Given the description of an element on the screen output the (x, y) to click on. 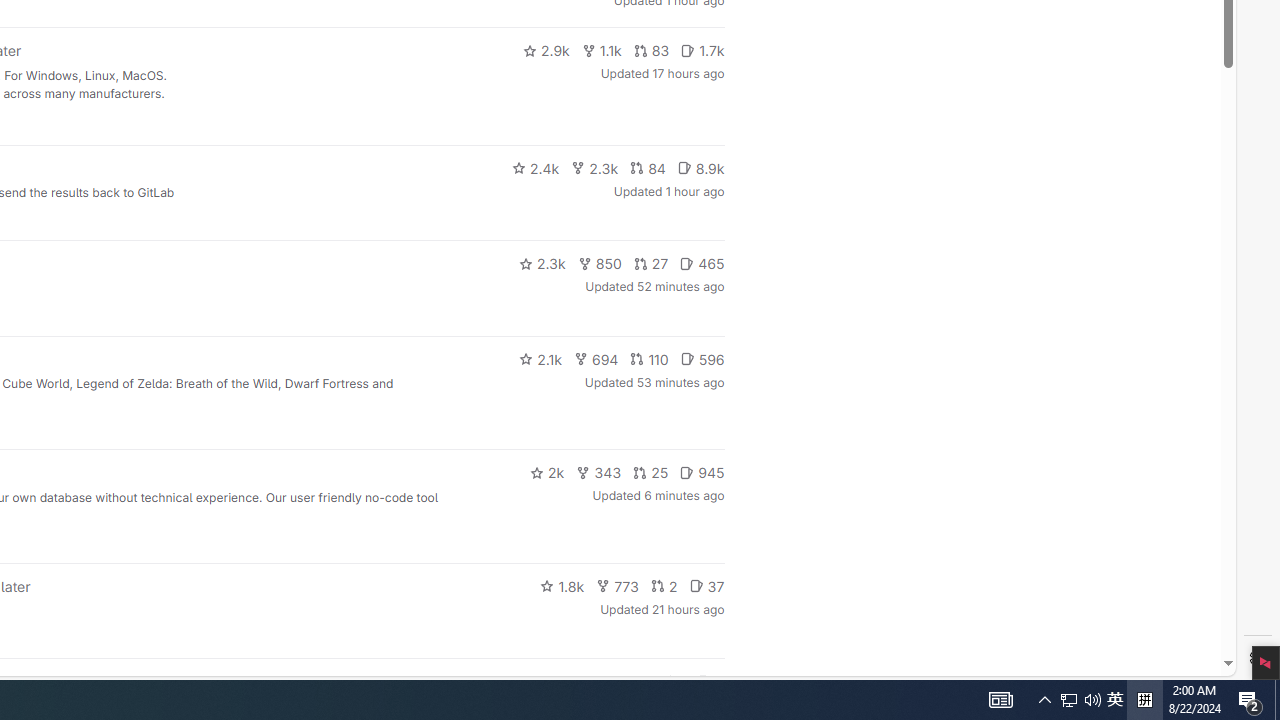
84 (647, 167)
465 (701, 263)
143 (629, 681)
8.9k (700, 167)
37 (706, 585)
Class: s14 gl-mr-2 (704, 681)
110 (649, 358)
2.1k (539, 358)
25 (651, 472)
773 (618, 585)
1.7k (702, 50)
2.3k (541, 263)
2 (664, 585)
